Given the description of an element on the screen output the (x, y) to click on. 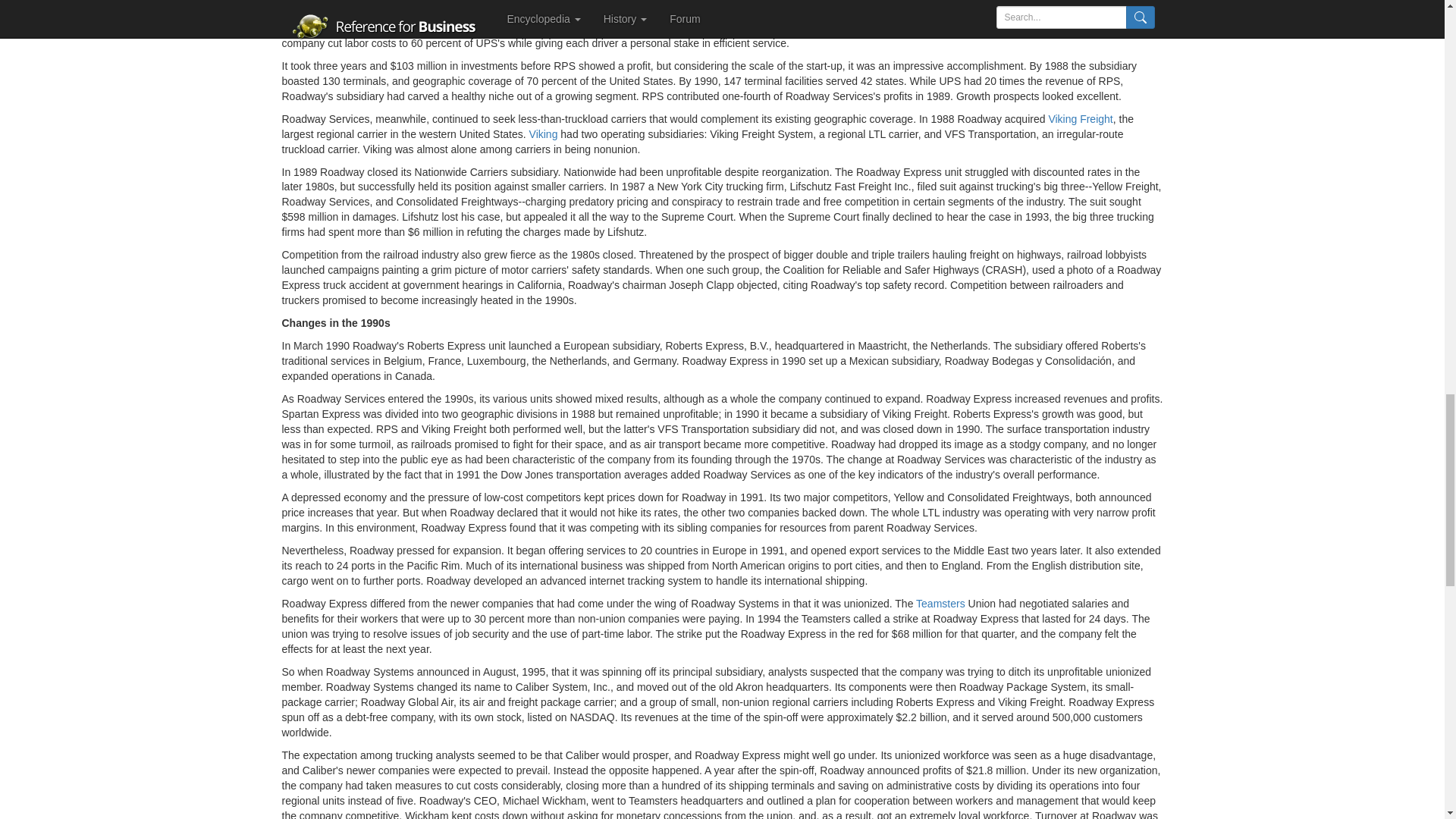
United Parcel Service (831, 12)
Teamsters (940, 603)
Viking (543, 133)
Viking Freight (1080, 119)
View 'viking' definition from Wikipedia (543, 133)
View 'united parcel service' definition from Wikipedia (831, 12)
View 'viking freight' definition from Wikipedia (1080, 119)
View 'teamsters' definition from Wikipedia (940, 603)
